Given the description of an element on the screen output the (x, y) to click on. 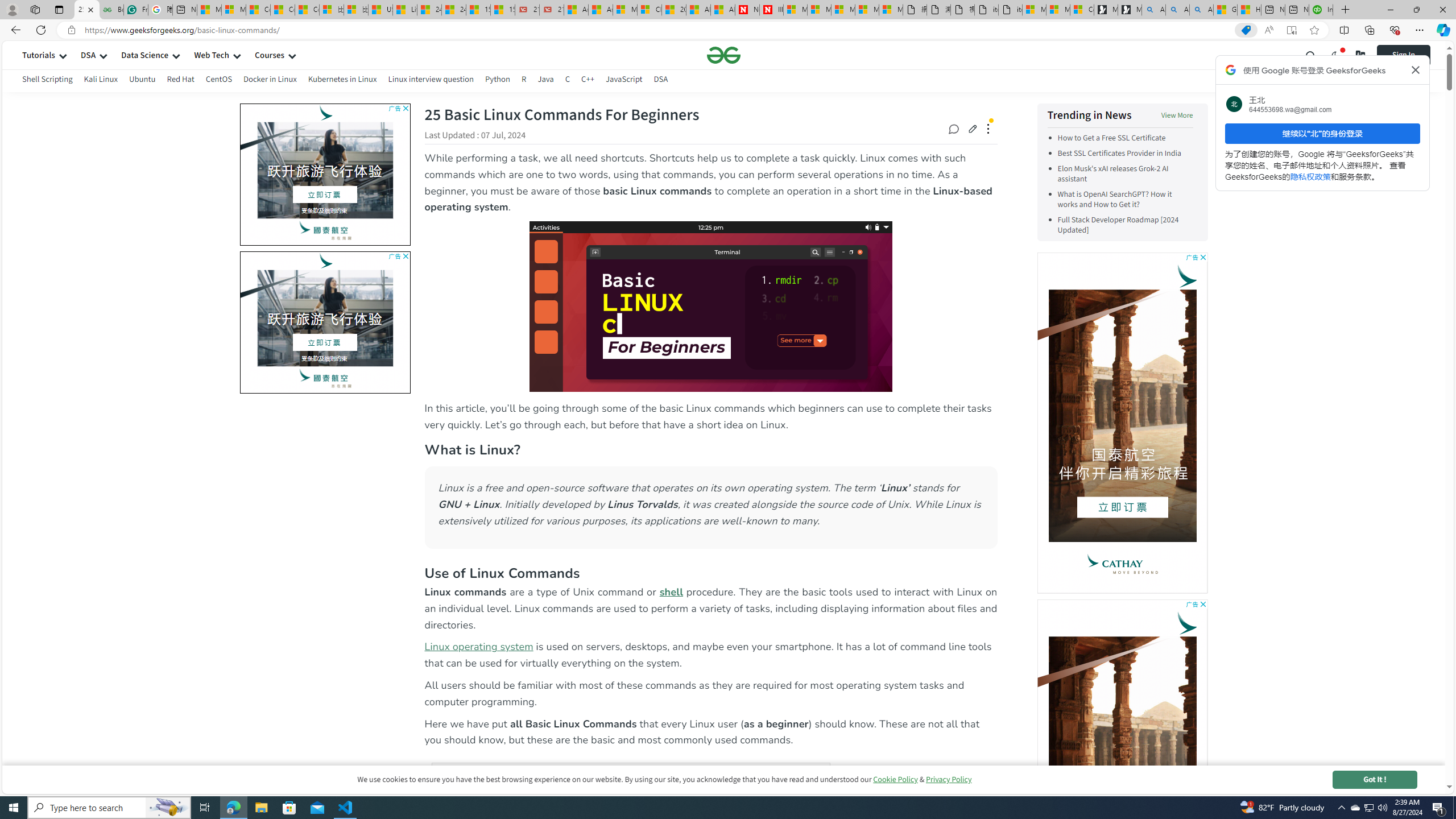
JavaScript (623, 79)
CentOS (218, 80)
AutomationID: brandFlyLogo (325, 260)
How to Get a Free SSL Certificate (1111, 138)
AutomationID: bg5 (325, 317)
Privacy Policy (949, 779)
Full Stack Developer Roadmap [2024 Updated] (1118, 224)
Ubuntu (142, 79)
Cookie Policy (895, 779)
